Given the description of an element on the screen output the (x, y) to click on. 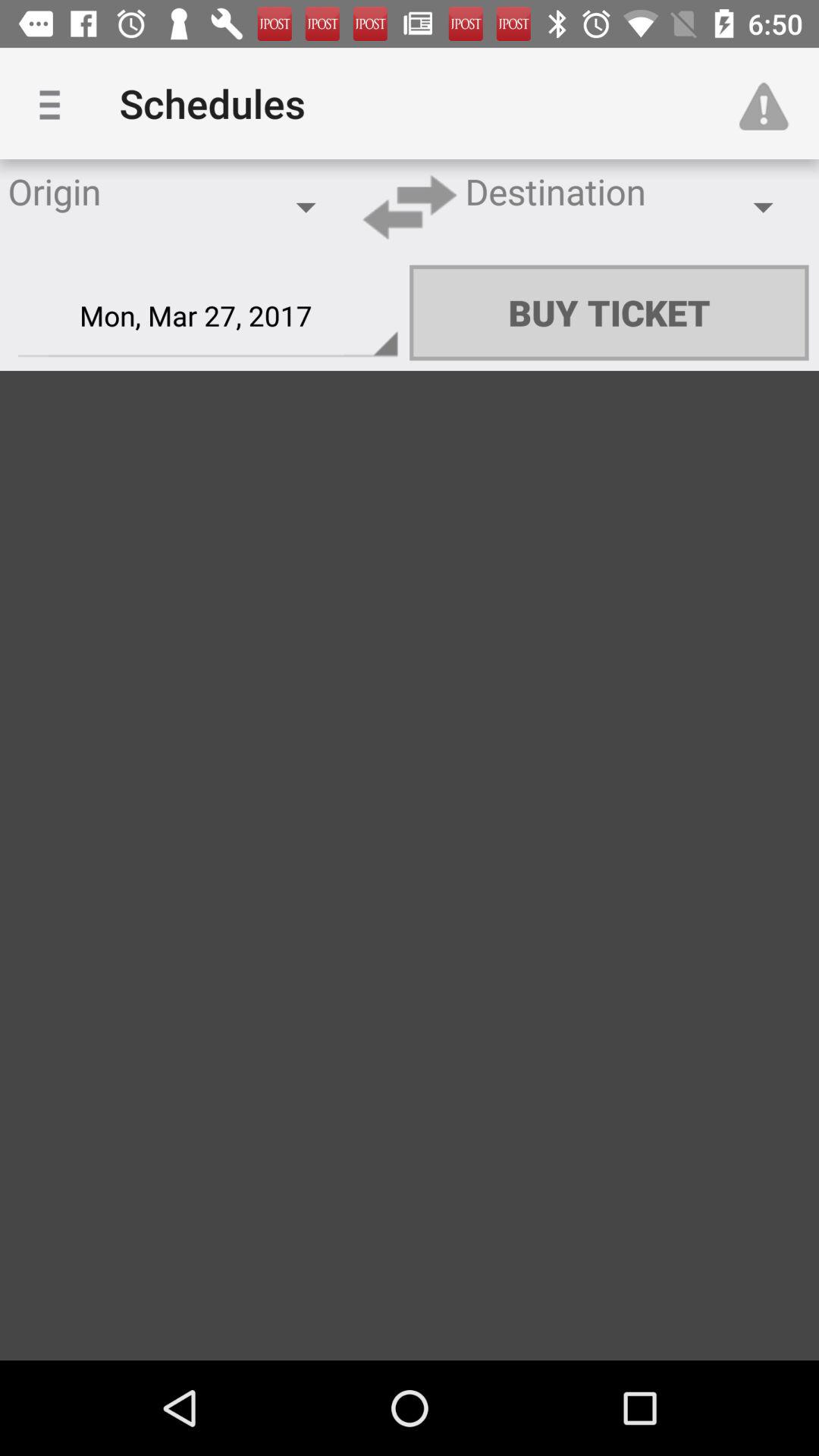
tap item next to destination item (409, 206)
